Given the description of an element on the screen output the (x, y) to click on. 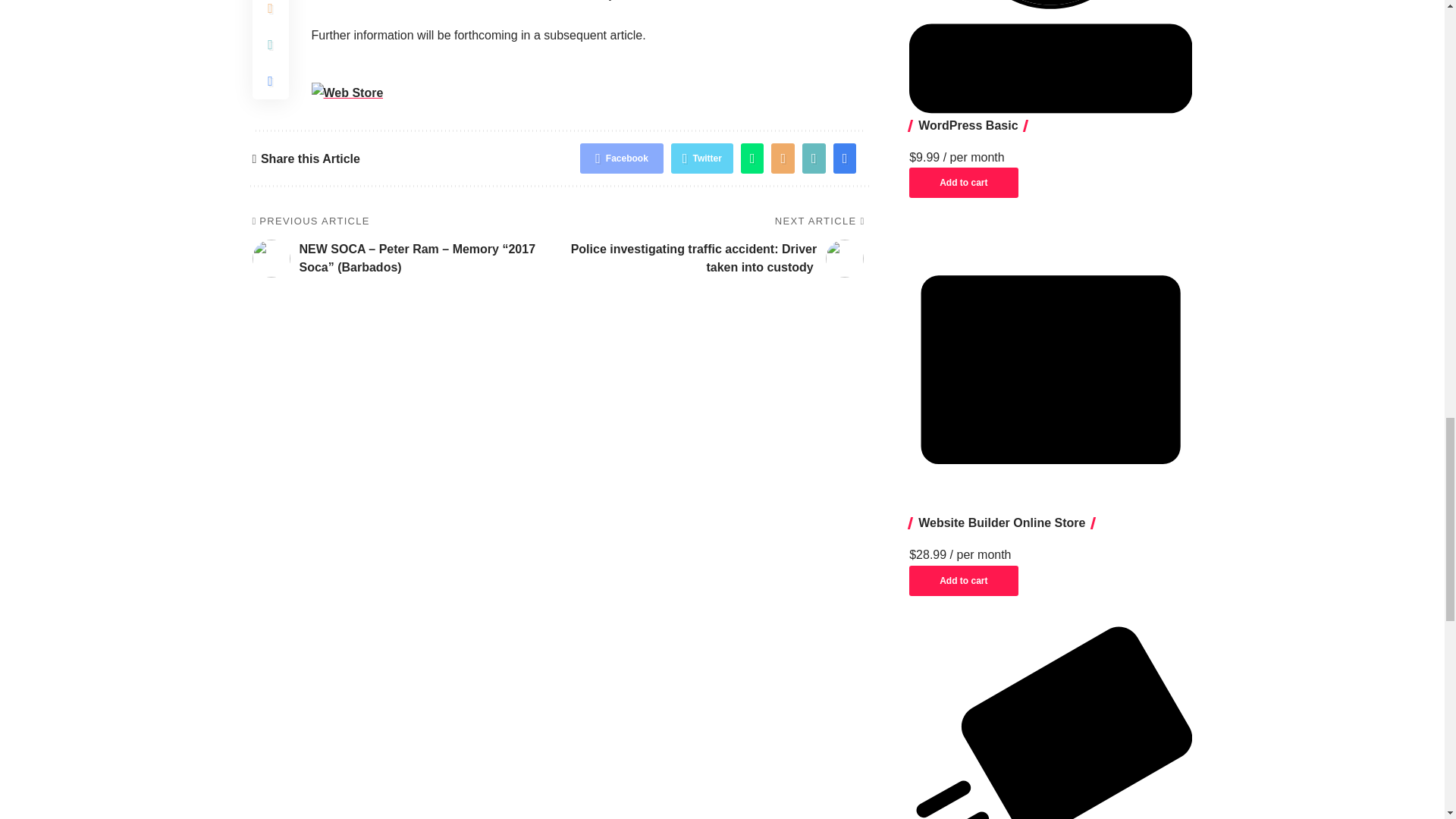
Website Builder (1050, 369)
Email Marketing (1050, 722)
WordPress (1050, 56)
